Given the description of an element on the screen output the (x, y) to click on. 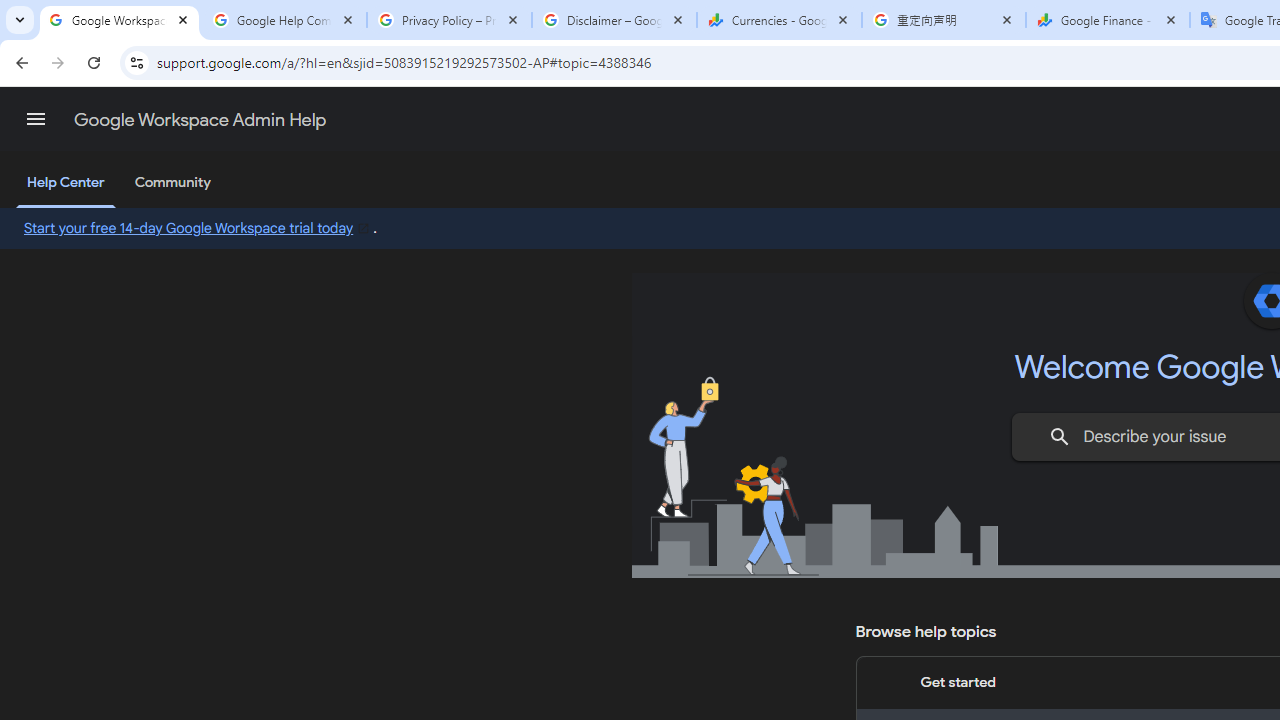
Google Workspace Admin Help (199, 119)
Start your free 14-day Google Workspace trial today (198, 227)
Community (171, 183)
Google Workspace Admin Help (119, 20)
